Given the description of an element on the screen output the (x, y) to click on. 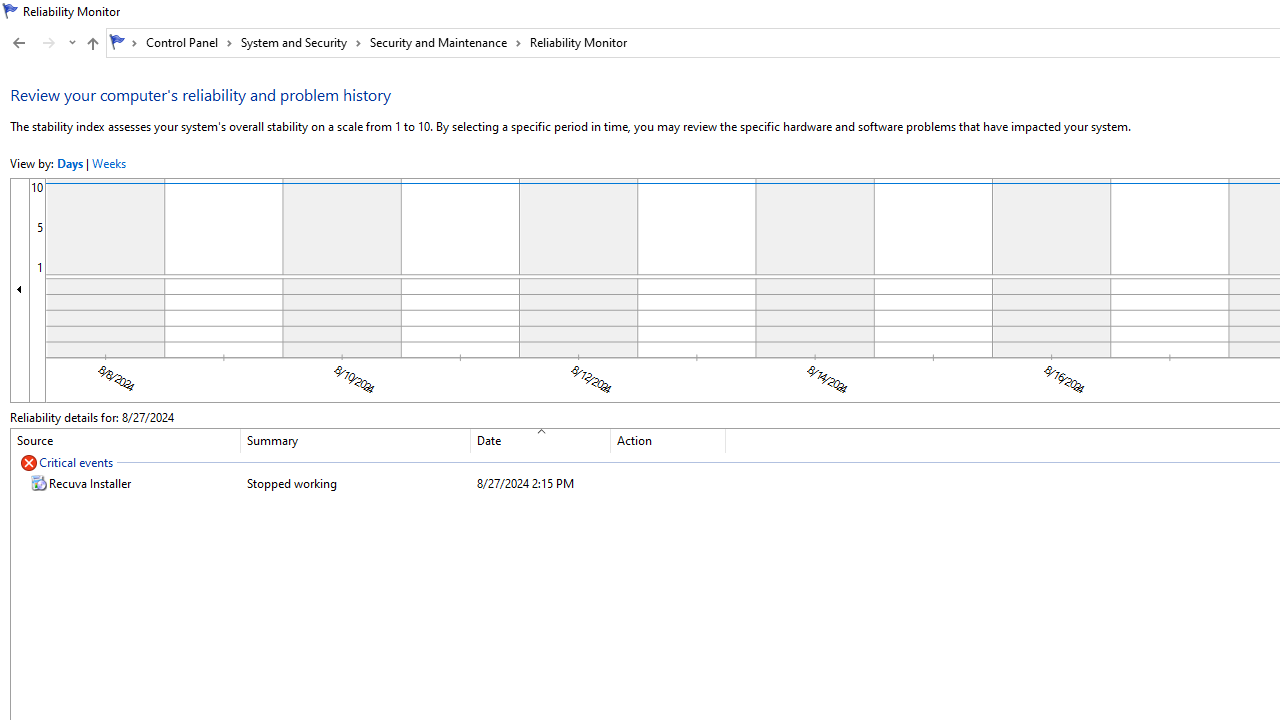
All locations (124, 42)
System (10, 11)
